Given the description of an element on the screen output the (x, y) to click on. 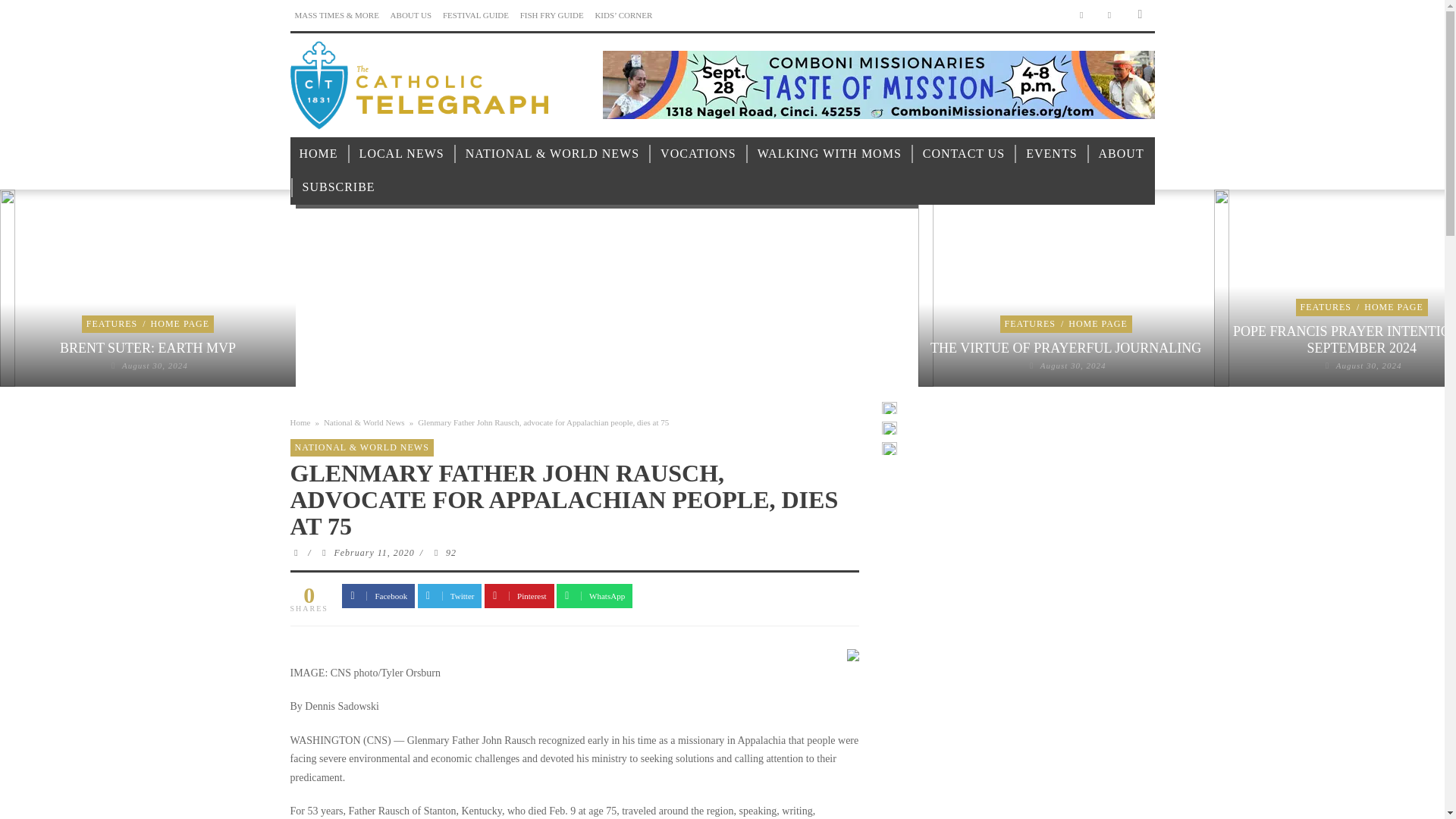
HOME (317, 154)
Walking with Moms (829, 154)
View all posts in Features (1029, 323)
FESTIVAL GUIDE (475, 15)
EVENTS (1051, 154)
Permalink to Brent Suter: Earth MVP (147, 347)
WALKING WITH MOMS (829, 154)
View all posts in Home Page (180, 323)
VOCATIONS (697, 154)
View all posts in Features (110, 323)
